Given the description of an element on the screen output the (x, y) to click on. 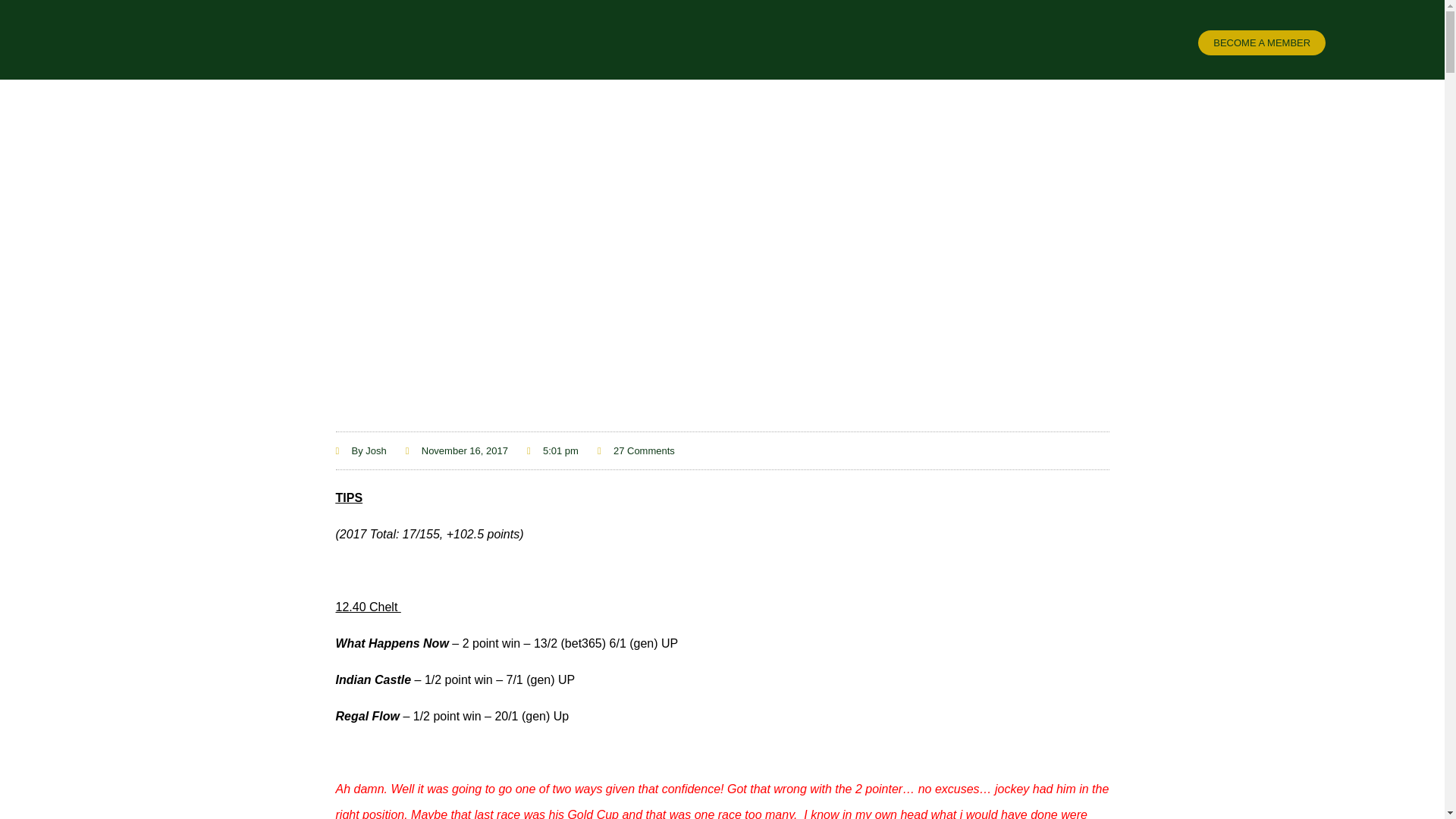
27 Comments (635, 450)
BECOME A MEMBER (1261, 42)
By Josh (359, 450)
November 16, 2017 (457, 450)
